Given the description of an element on the screen output the (x, y) to click on. 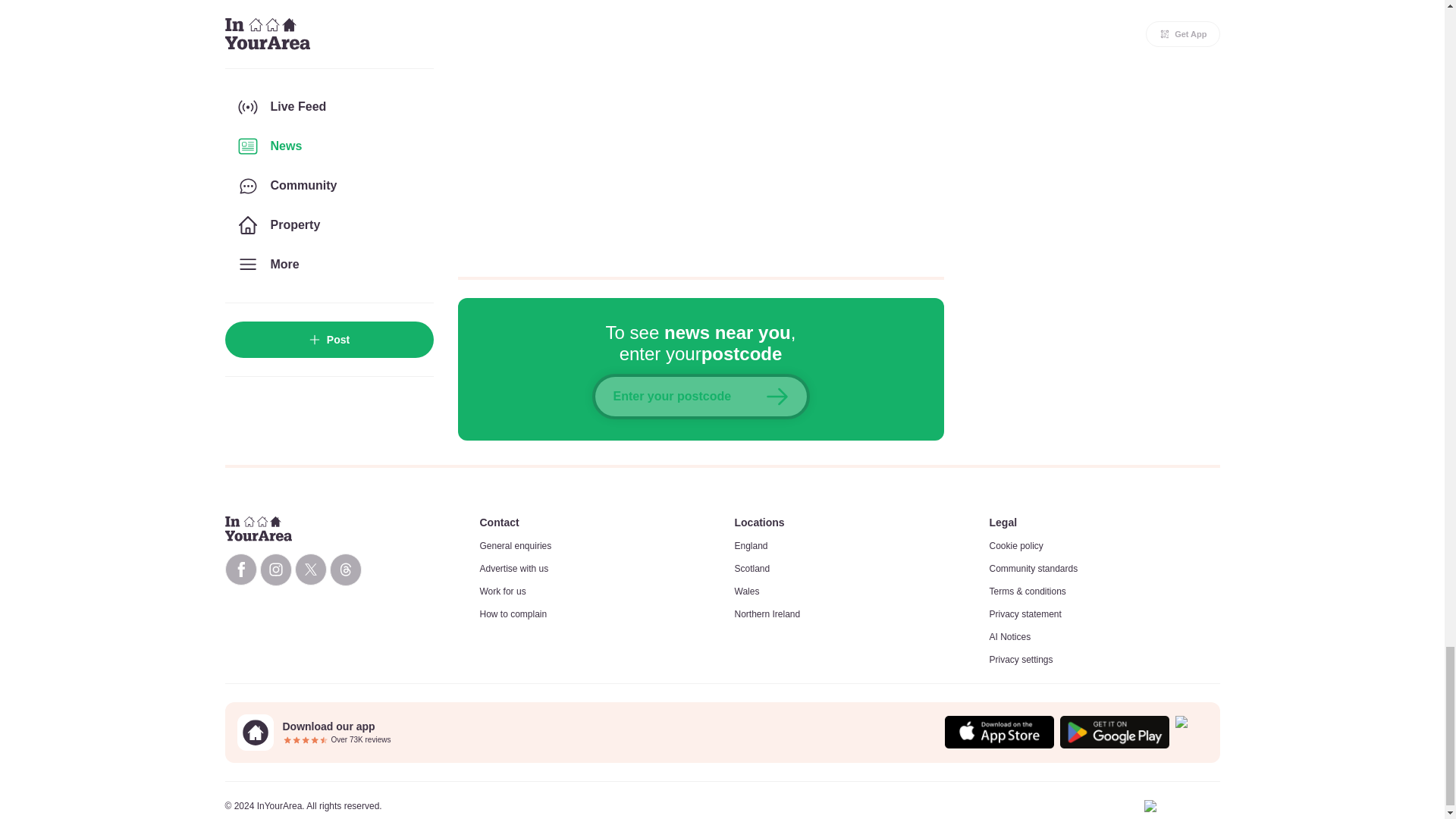
InYourArea Facebook (240, 569)
InYourArea Threads (345, 569)
comments (701, 128)
InYourArea Instagram (275, 569)
InYourArea X (310, 569)
